Given the description of an element on the screen output the (x, y) to click on. 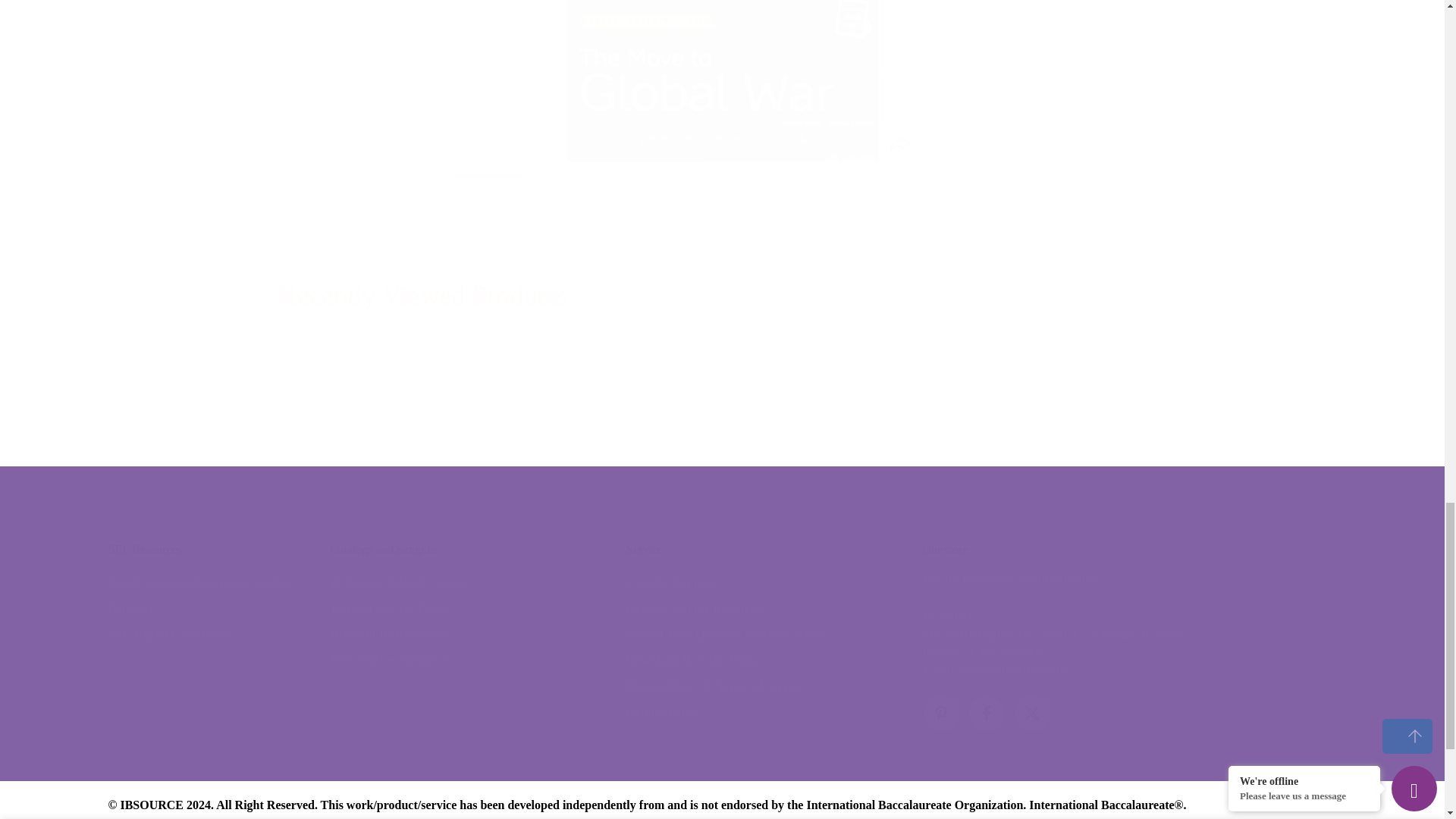
Recently Viewed Products (722, 296)
